Given the description of an element on the screen output the (x, y) to click on. 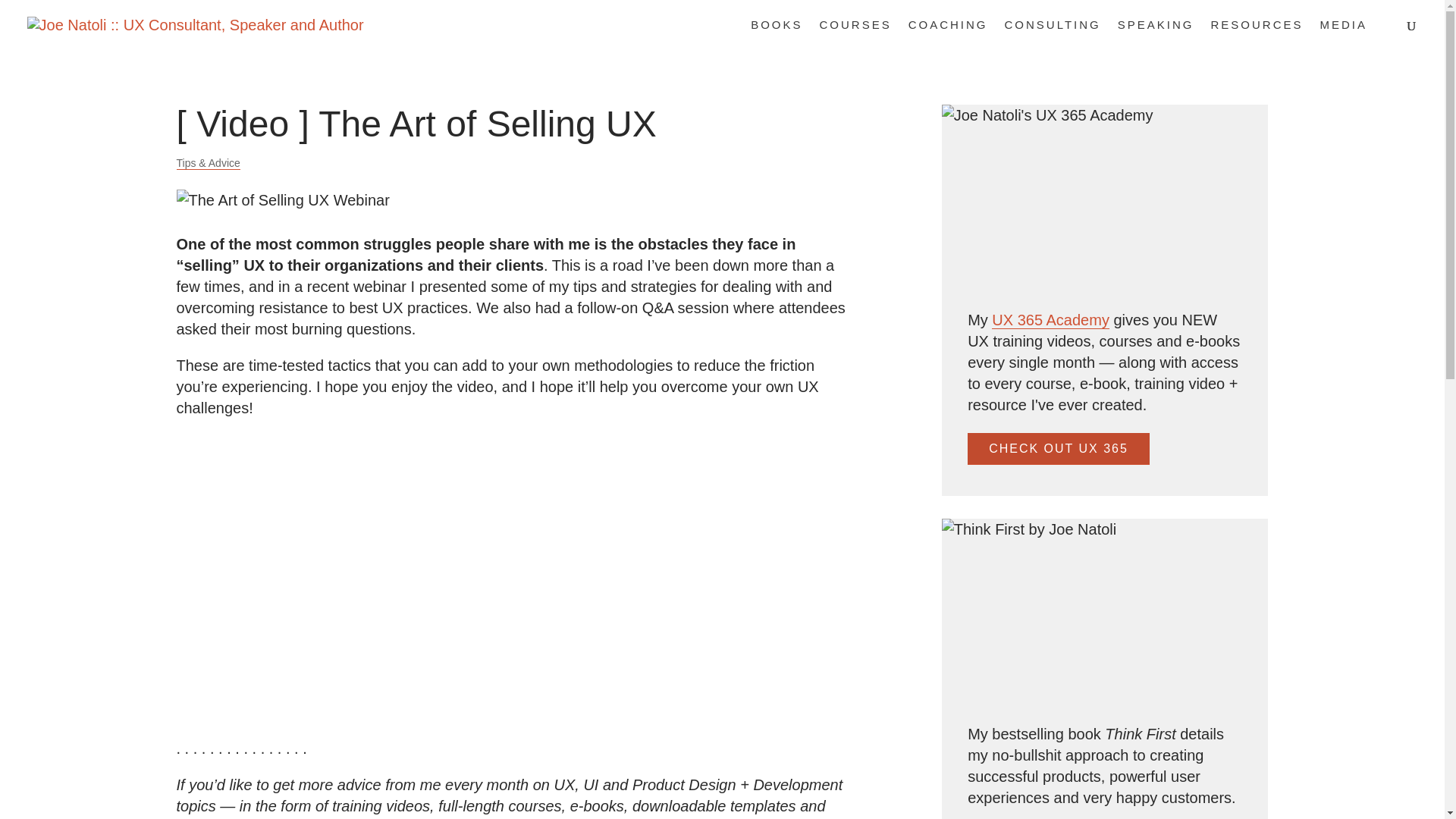
MEDIA (1343, 34)
COACHING (948, 34)
CHECK OUT UX 365 (1059, 449)
BOOKS (776, 34)
RESOURCES (1256, 34)
SPEAKING (1155, 34)
CONSULTING (1052, 34)
UX 365 Academy (1050, 320)
COURSES (854, 34)
